Given the description of an element on the screen output the (x, y) to click on. 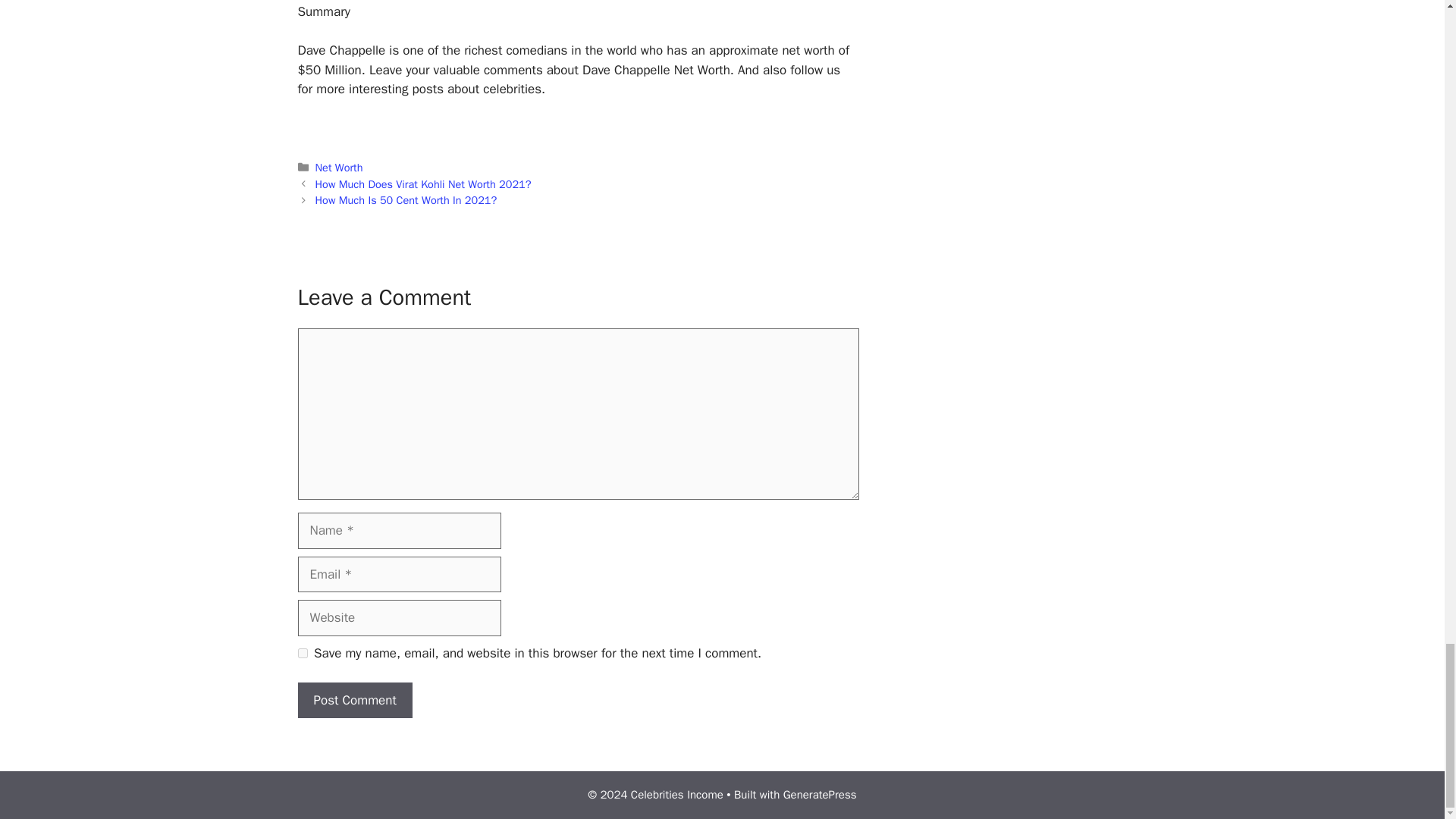
GeneratePress (820, 794)
Net Worth (338, 167)
How Much Does Virat Kohli Net Worth 2021? (423, 183)
Post Comment (354, 700)
Post Comment (354, 700)
yes (302, 653)
How Much Is 50 Cent Worth In 2021? (406, 200)
